Given the description of an element on the screen output the (x, y) to click on. 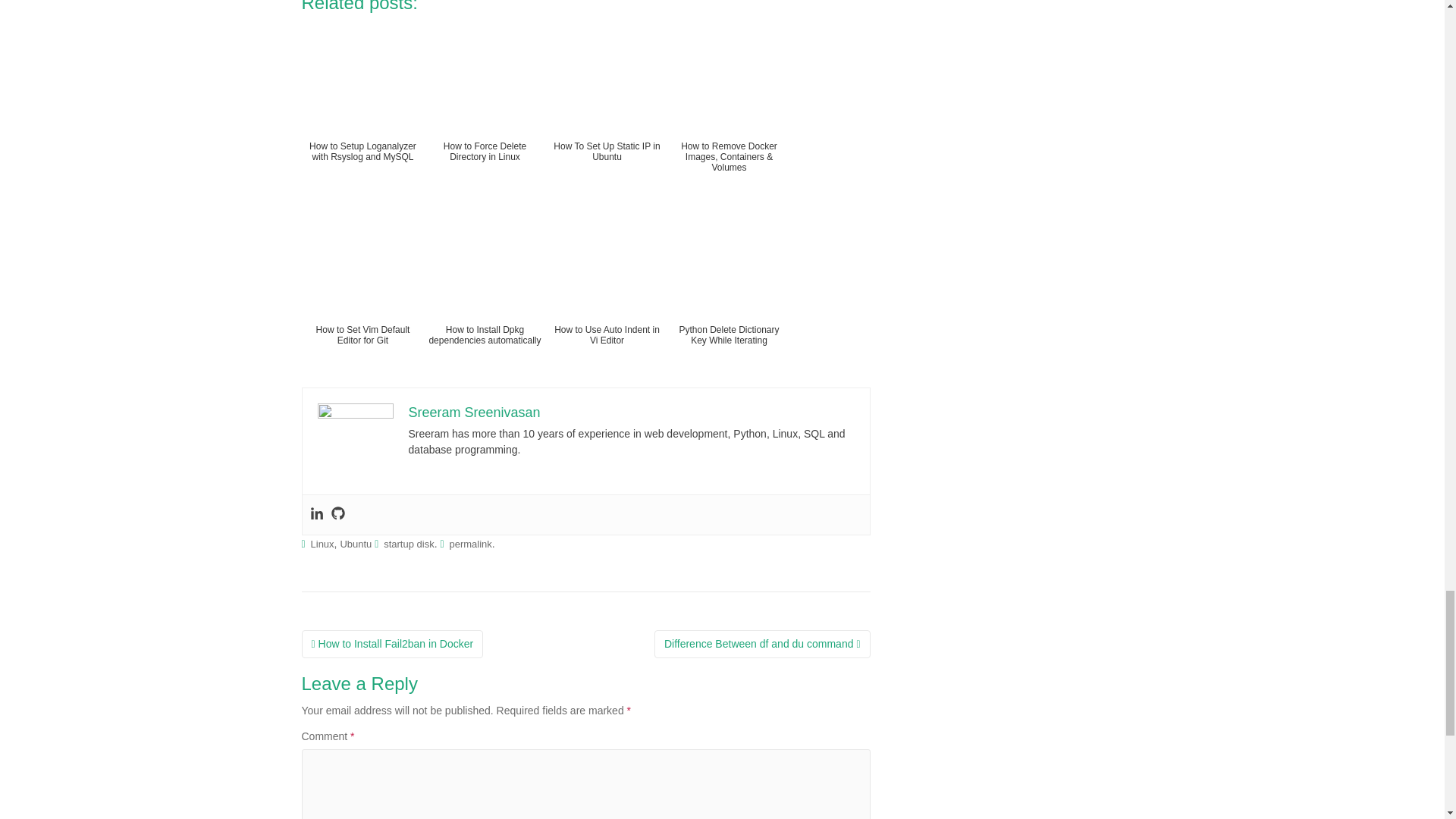
Python Delete Dictionary Key While Iterating (728, 293)
How to Force Delete Directory in Linux (484, 109)
Linkedin (315, 514)
Linux (322, 543)
How to Install Fail2ban in Docker (392, 644)
startup disk (408, 543)
Ubuntu (355, 543)
Difference Between df and du command (761, 644)
permalink (470, 543)
How to Install Dpkg dependencies automatically (484, 293)
How to Use Auto Indent in Vi Editor (607, 293)
How to Setup Loganalyzer with Rsyslog and MySQL (363, 109)
How to Set Vim Default Editor for Git (363, 293)
Github (336, 514)
Sreeram Sreenivasan (473, 412)
